Given the description of an element on the screen output the (x, y) to click on. 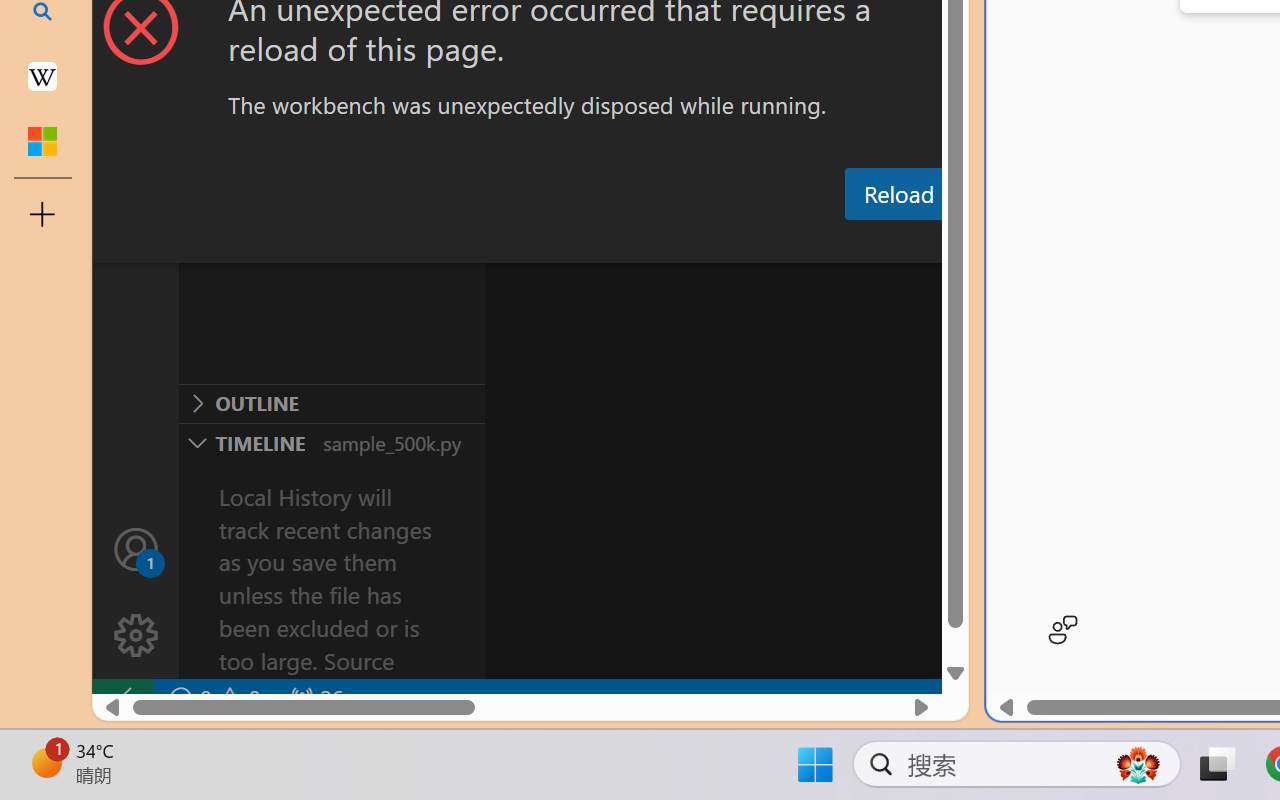
Timeline Section (331, 442)
Outline Section (331, 403)
Problems (Ctrl+Shift+M) (567, 243)
Reload (898, 193)
Terminal (Ctrl+`) (1021, 243)
Debug Console (Ctrl+Shift+Y) (854, 243)
Manage (135, 635)
Accounts - Sign in requested (135, 548)
